Given the description of an element on the screen output the (x, y) to click on. 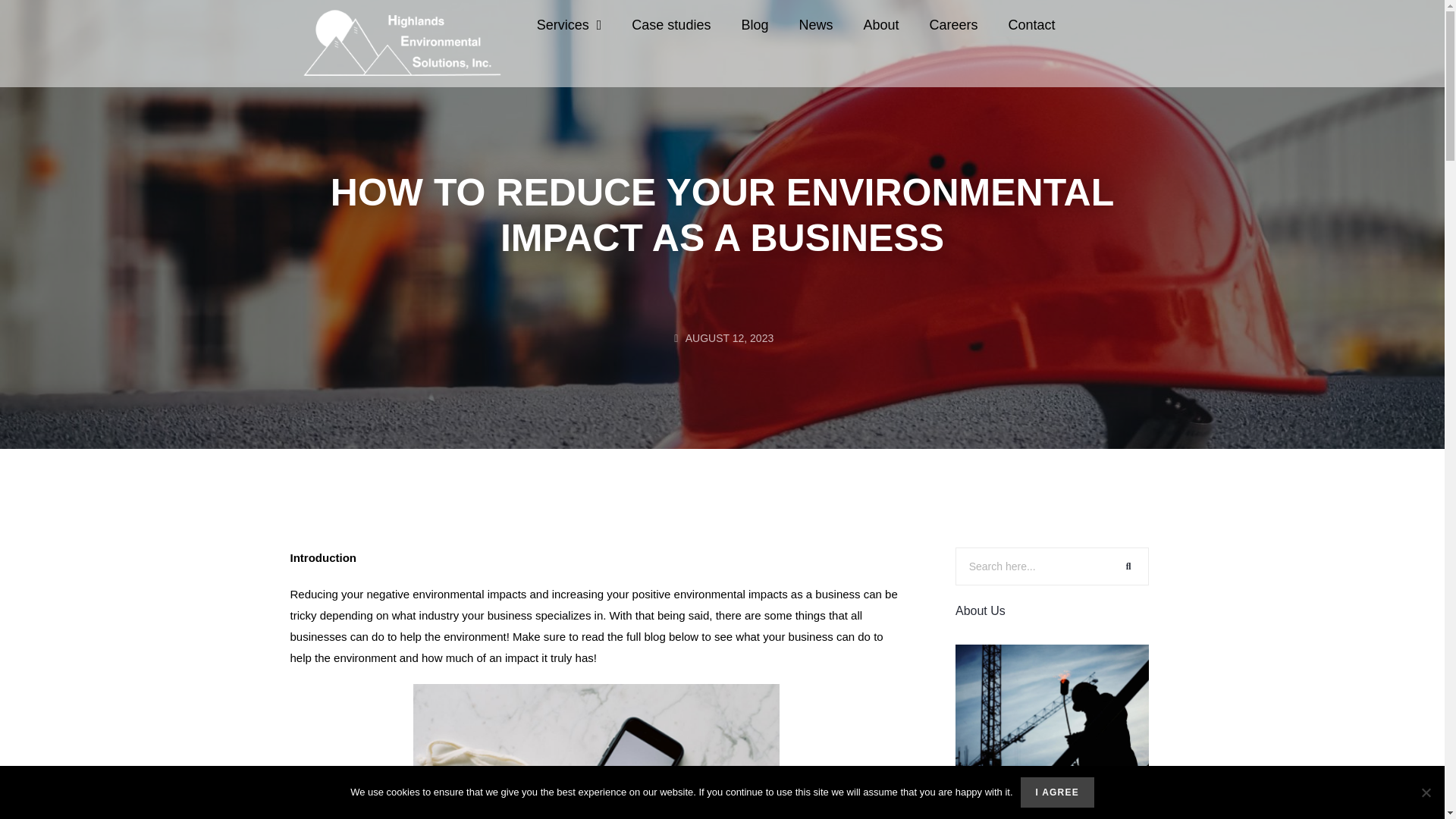
No (1425, 792)
Contact (1031, 24)
About (880, 24)
Blog (754, 24)
News (815, 24)
Case studies (670, 24)
AUGUST 12, 2023 (722, 338)
Careers (953, 24)
Services (569, 24)
